Given the description of an element on the screen output the (x, y) to click on. 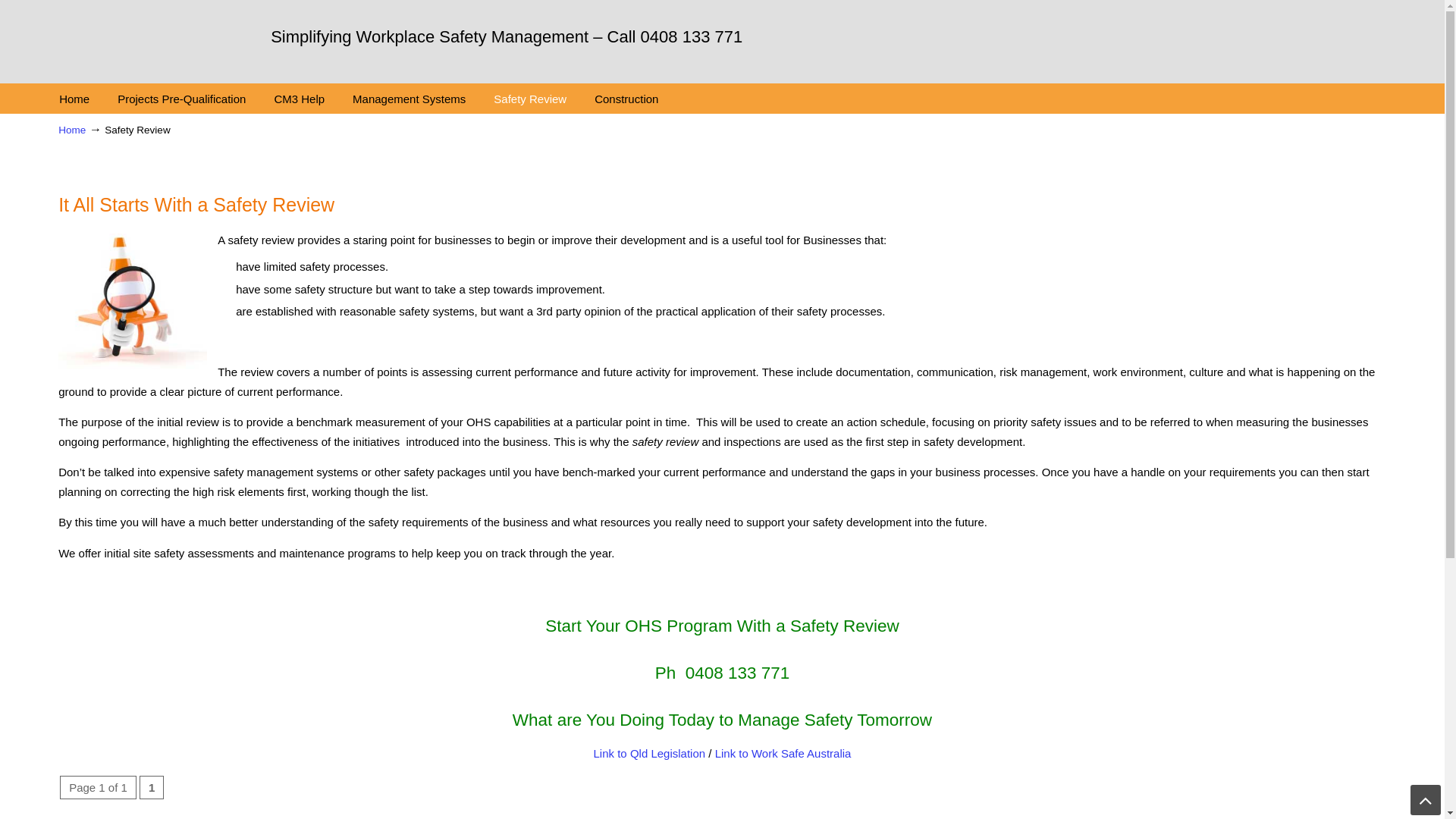
OHS Safety Advisor | Workplace Safety | CM3 Element type: text (130, 36)
CM3 Help Element type: text (298, 99)
Link to Qld Legislation Element type: text (649, 752)
Construction Element type: text (626, 99)
Link to Work Safe Australia Element type: text (783, 752)
Home Element type: text (73, 99)
Management Systems Element type: text (408, 99)
Home Element type: text (71, 129)
Safety-Audit-Inspection Element type: hover (132, 301)
Safety Review Element type: text (529, 99)
Projects Pre-Qualification Element type: text (181, 99)
